Given the description of an element on the screen output the (x, y) to click on. 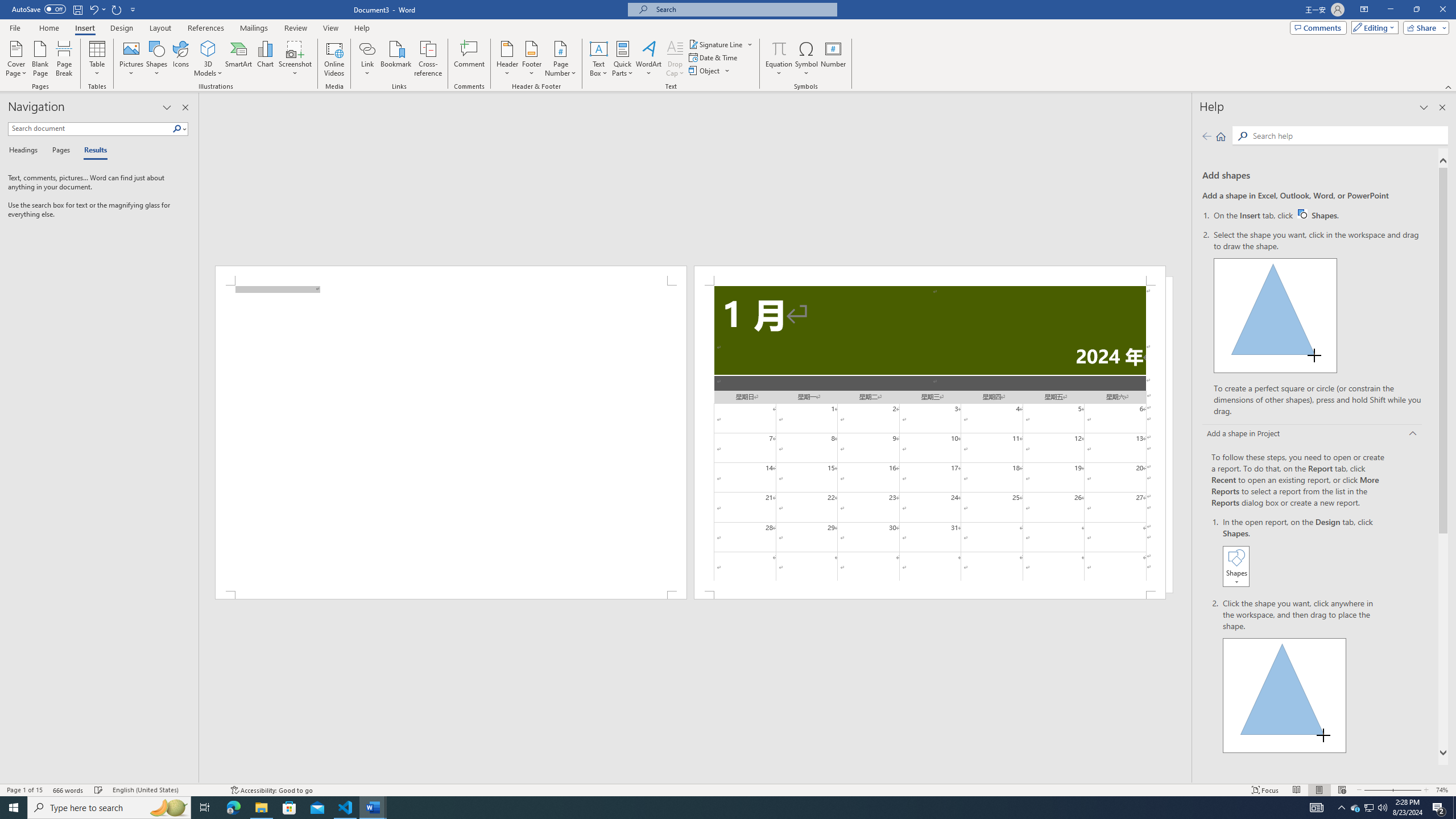
Bookmark... (396, 58)
Footer (531, 58)
Drawing a shape (1284, 695)
Comment (469, 58)
Insert Shapes button (1236, 566)
Previous page (1206, 136)
Icons (180, 58)
